Given the description of an element on the screen output the (x, y) to click on. 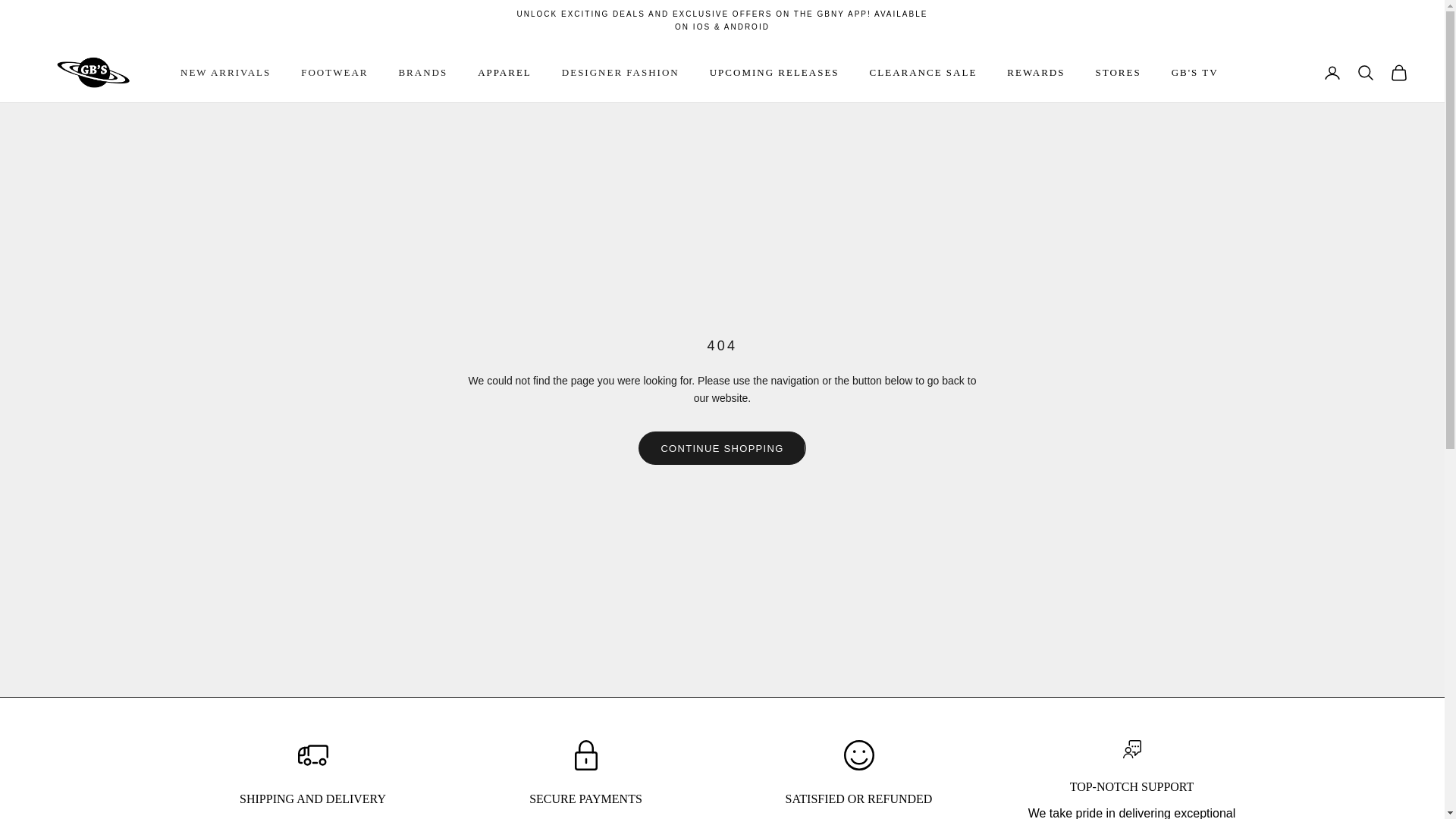
GBNY (92, 72)
Gbny (721, 20)
Shipping Policy (312, 798)
Refund Policy (859, 798)
